Given the description of an element on the screen output the (x, y) to click on. 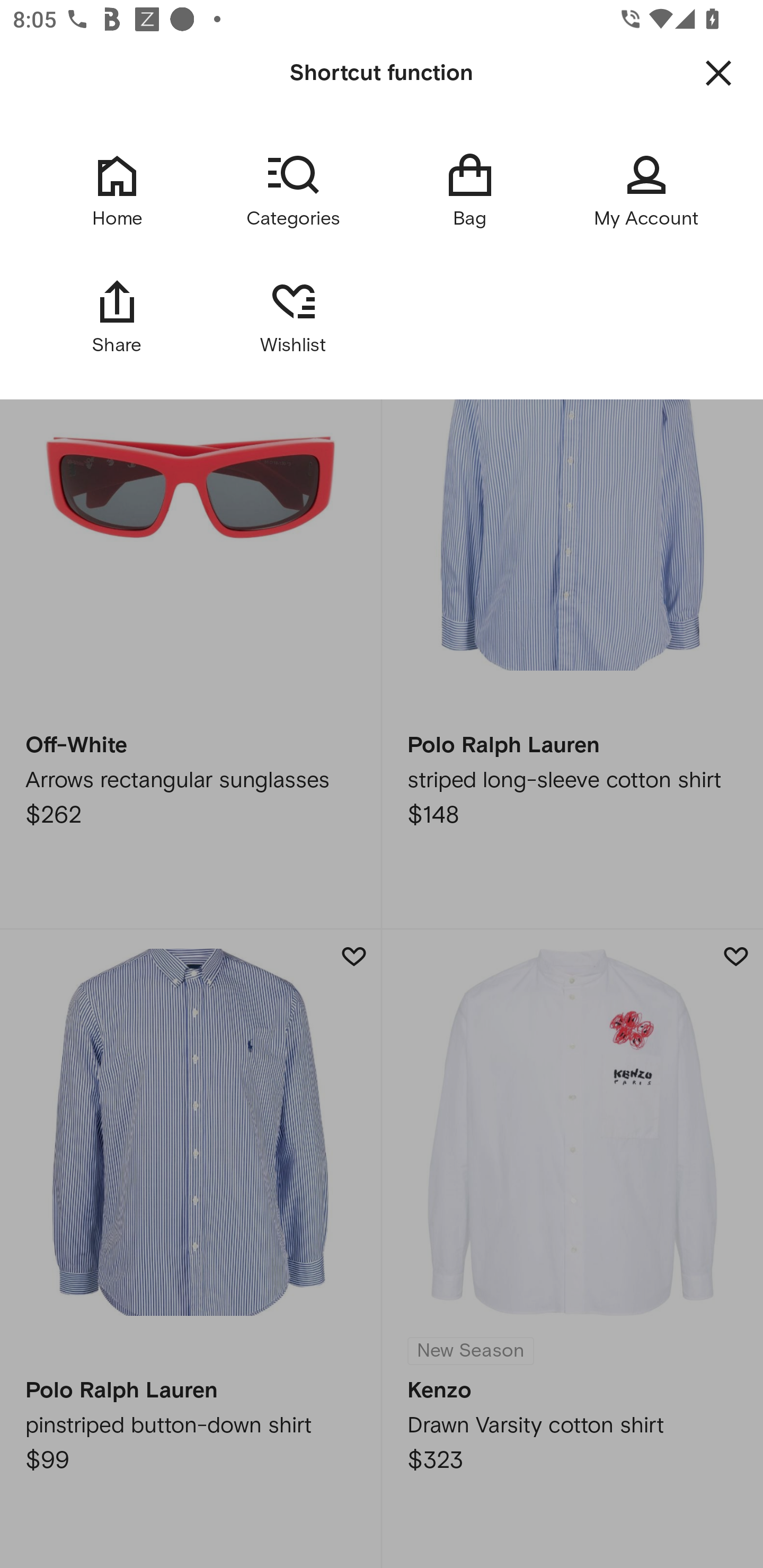
Home (116, 190)
Categories (293, 190)
Bag (469, 190)
My Account (645, 190)
Share (116, 316)
Wishlist (293, 316)
